Given the description of an element on the screen output the (x, y) to click on. 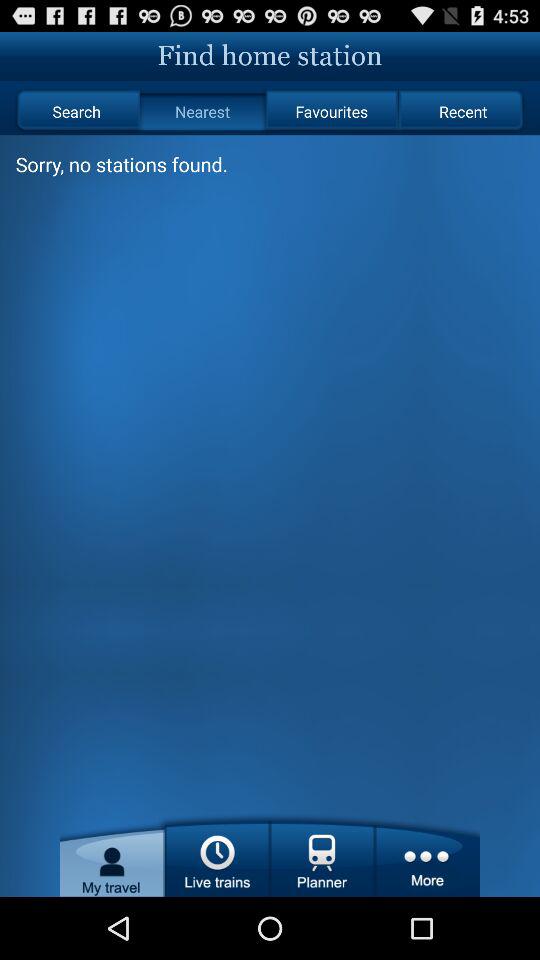
select the search (76, 111)
